Given the description of an element on the screen output the (x, y) to click on. 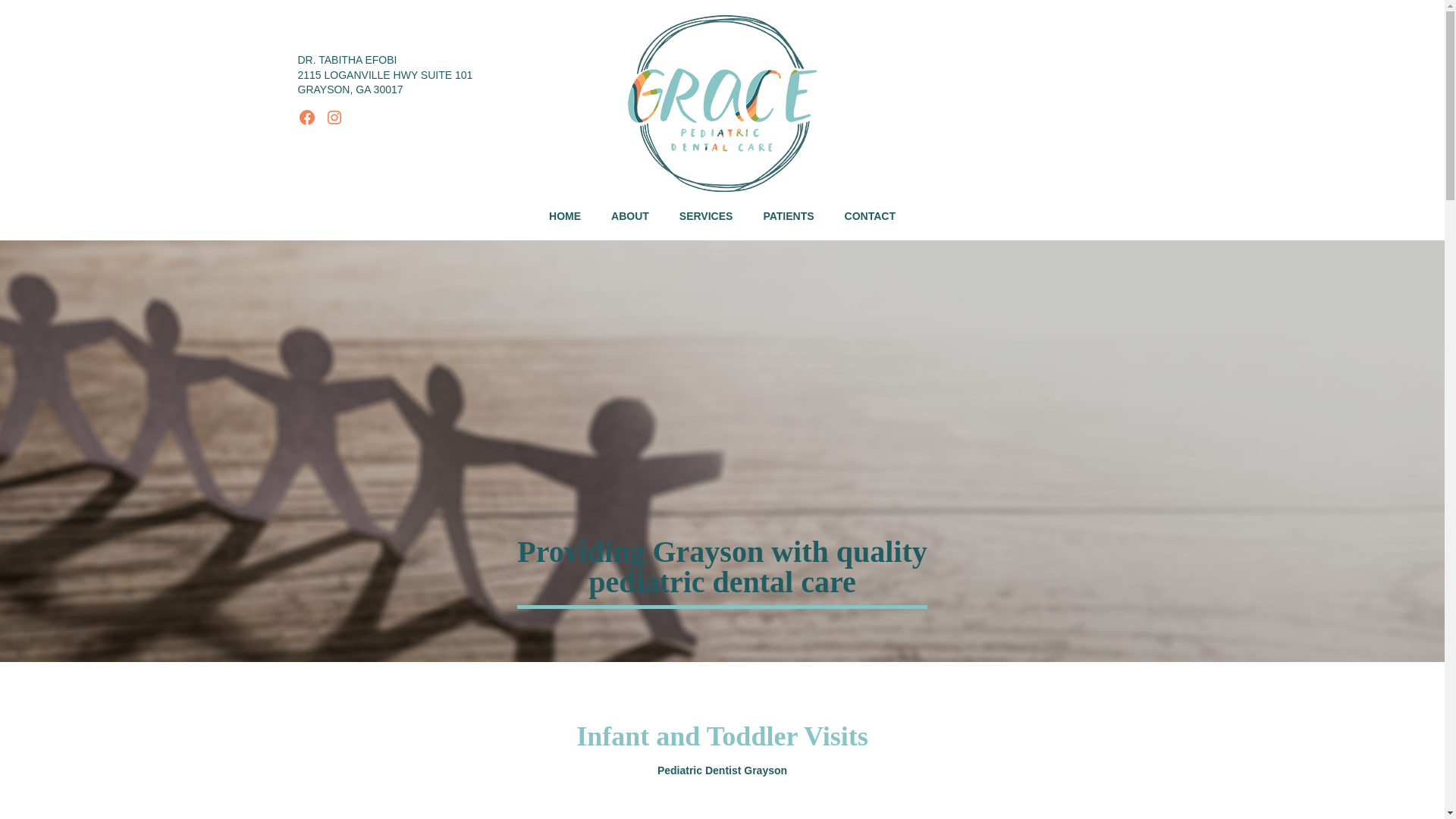
INSTAGRAM (333, 117)
HOME (564, 217)
FACEBOOK (306, 117)
PATIENTS (788, 217)
SERVICES (705, 217)
ABOUT (629, 217)
